Given the description of an element on the screen output the (x, y) to click on. 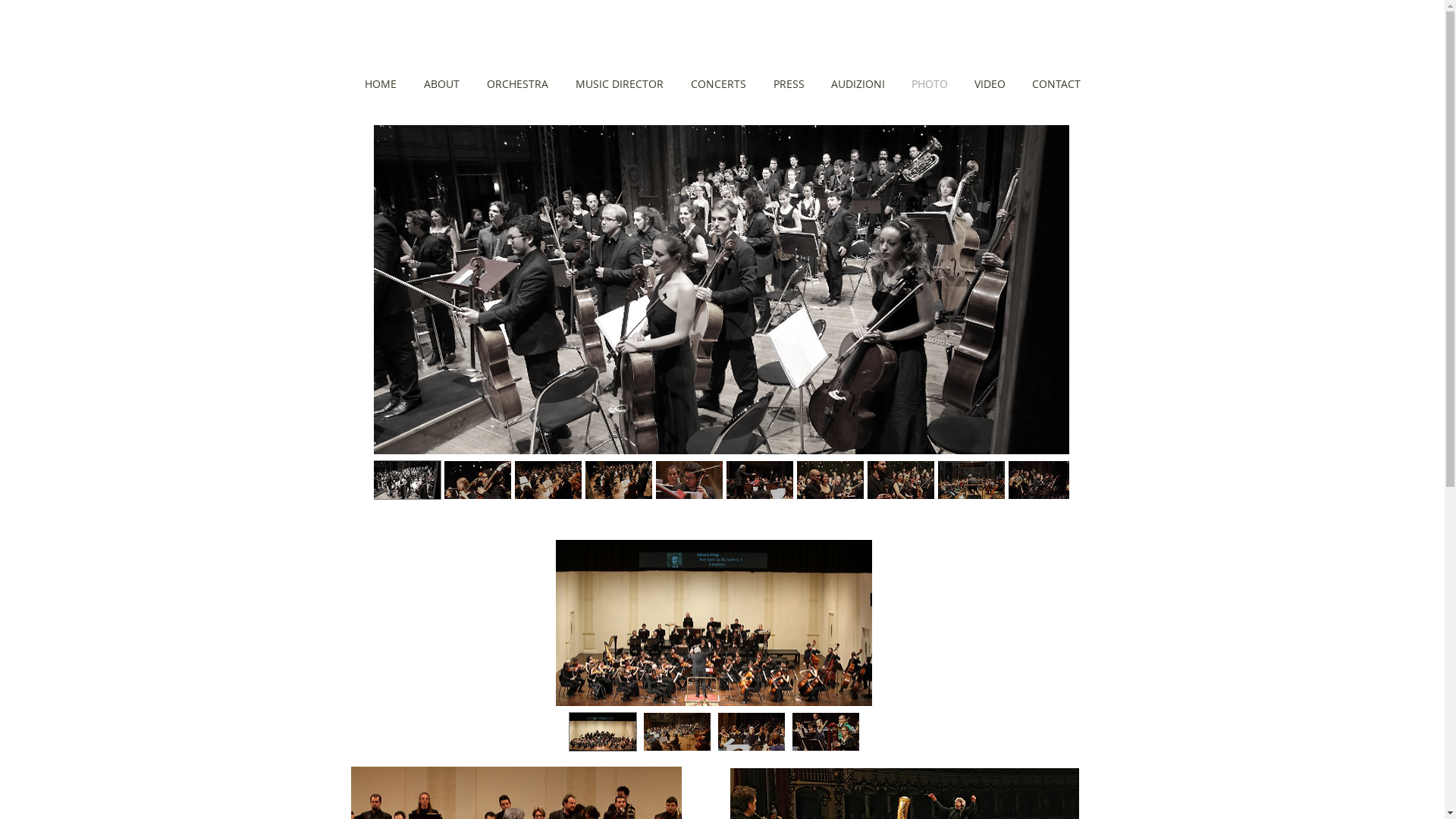
CONCERTS Element type: text (717, 84)
HOME Element type: text (379, 84)
ABOUT Element type: text (440, 84)
PRESS Element type: text (788, 84)
VIDEO Element type: text (990, 84)
MUSIC DIRECTOR Element type: text (618, 84)
PHOTO Element type: text (928, 84)
ORCHESTRA Element type: text (517, 84)
CONTACT Element type: text (1056, 84)
AUDIZIONI Element type: text (857, 84)
